Given the description of an element on the screen output the (x, y) to click on. 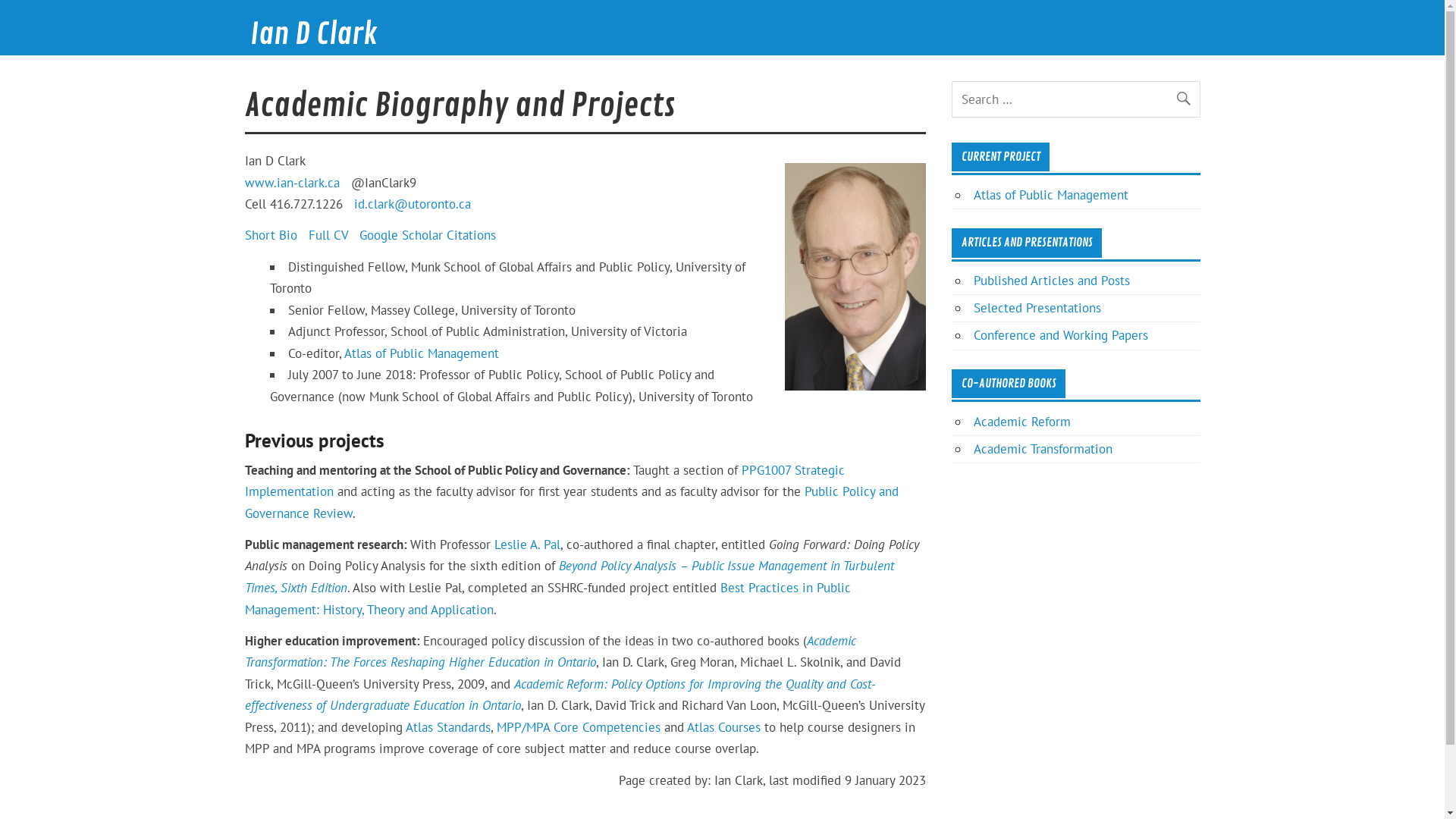
Leslie A. Pal Element type: text (527, 544)
Academic Transformation Element type: text (1042, 448)
Atlas of Public Management Element type: text (1050, 194)
Atlas Standards Element type: text (446, 726)
Short Bio Element type: text (270, 234)
id.clark@utoronto.ca Element type: text (411, 203)
Selected Presentations Element type: text (1037, 307)
www.ian-clark.ca Element type: text (291, 182)
PPG1007 Strategic Implementation Element type: text (544, 480)
Academic Reform Element type: text (1021, 421)
Full CV Element type: text (327, 234)
Atlas of Public Management Element type: text (421, 353)
Ian D Clark Element type: text (313, 34)
Google Scholar Citations Element type: text (427, 234)
Public Policy and Governance Review Element type: text (570, 502)
Atlas Courses Element type: text (723, 726)
Conference and Working Papers Element type: text (1060, 334)
Published Articles and Posts Element type: text (1051, 280)
MPP/MPA Core Competencies Element type: text (577, 726)
